Given the description of an element on the screen output the (x, y) to click on. 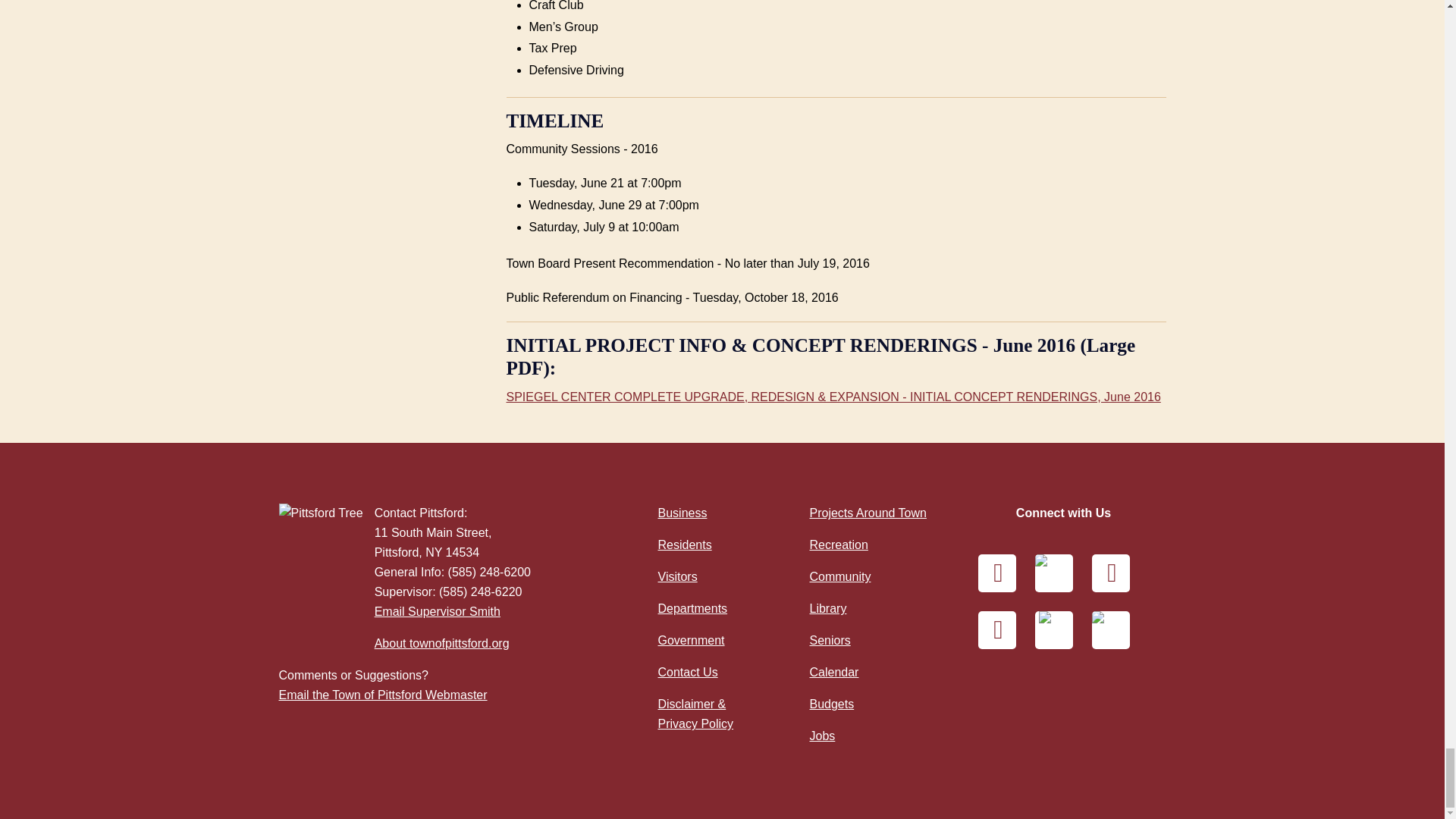
Link to our Facebook Account (997, 573)
View our Photo Gallery (997, 629)
Link to our Instagram Account (1110, 573)
